Given the description of an element on the screen output the (x, y) to click on. 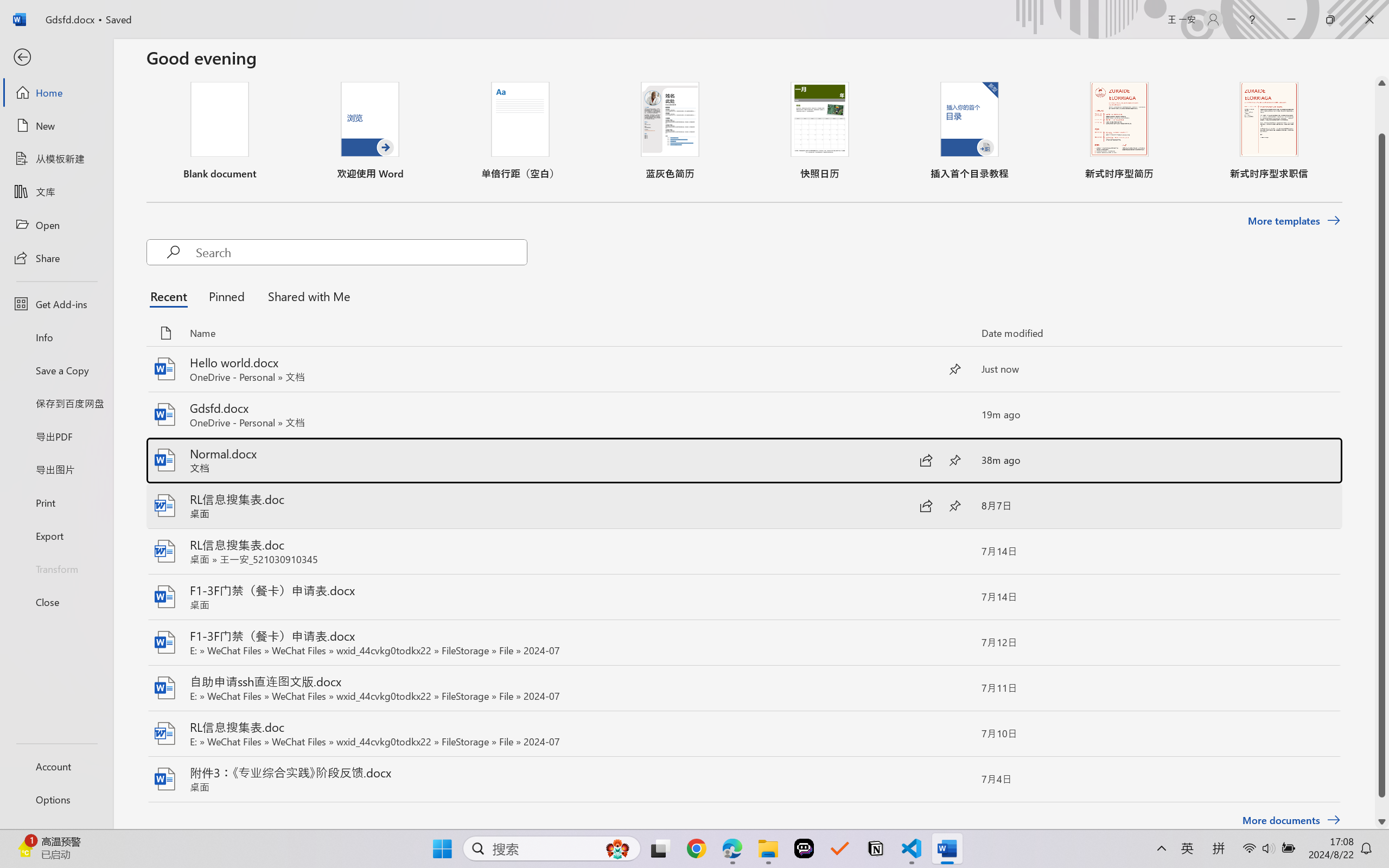
Page up (1382, 111)
Get Add-ins (56, 303)
Pin this item to the list (954, 779)
New (56, 125)
Blank document (219, 130)
Info (56, 337)
